Given the description of an element on the screen output the (x, y) to click on. 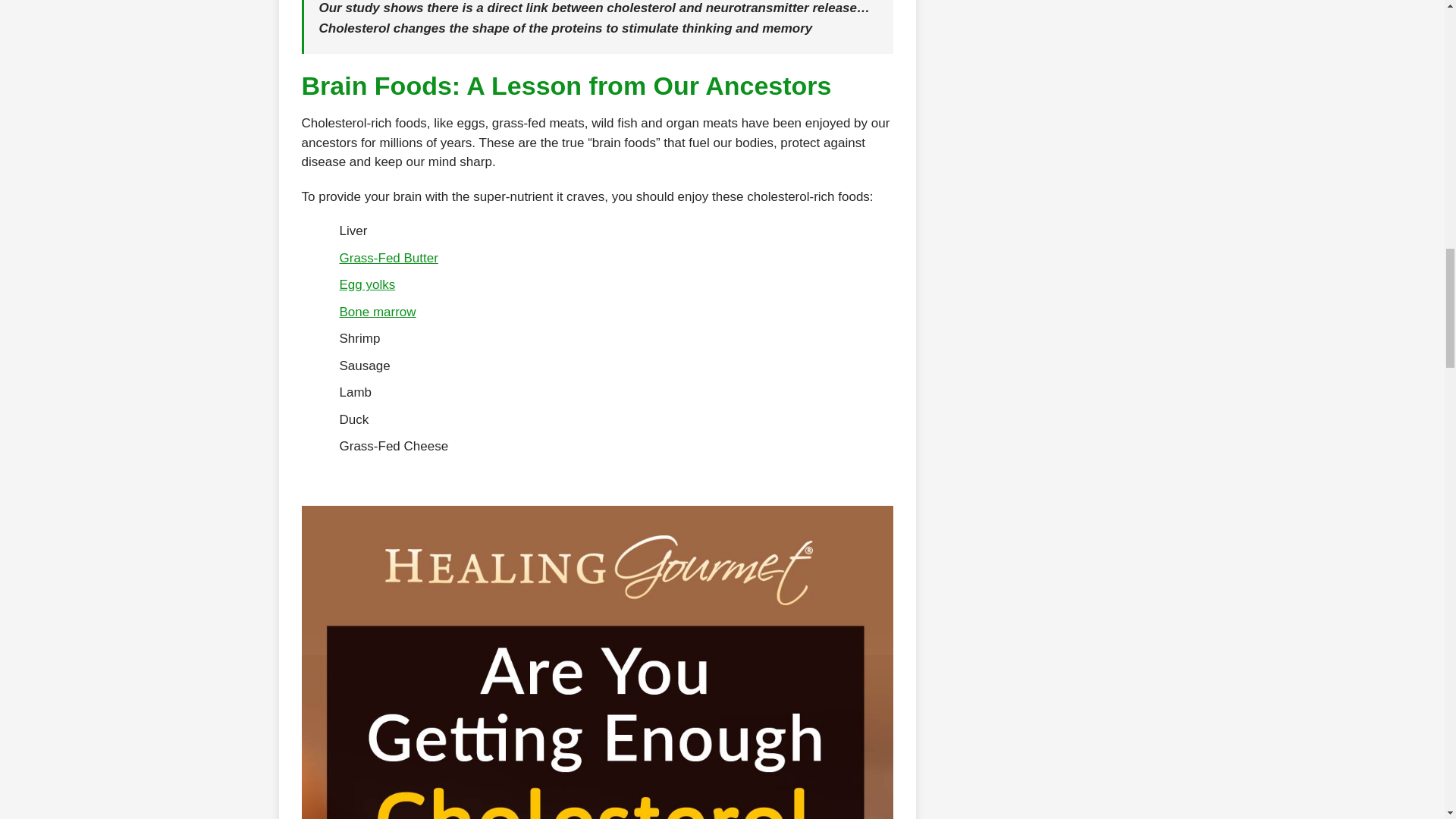
Egg yolks (367, 284)
Bone marrow (377, 311)
Bone Marrow: A Trendy Superfood That Powers Your Brain (377, 311)
Grass-Fed Butter: The Superfood in Your Fridge Door (388, 257)
How to Buy the Healthiest Eggs (367, 284)
Grass-Fed Butter (388, 257)
